Given the description of an element on the screen output the (x, y) to click on. 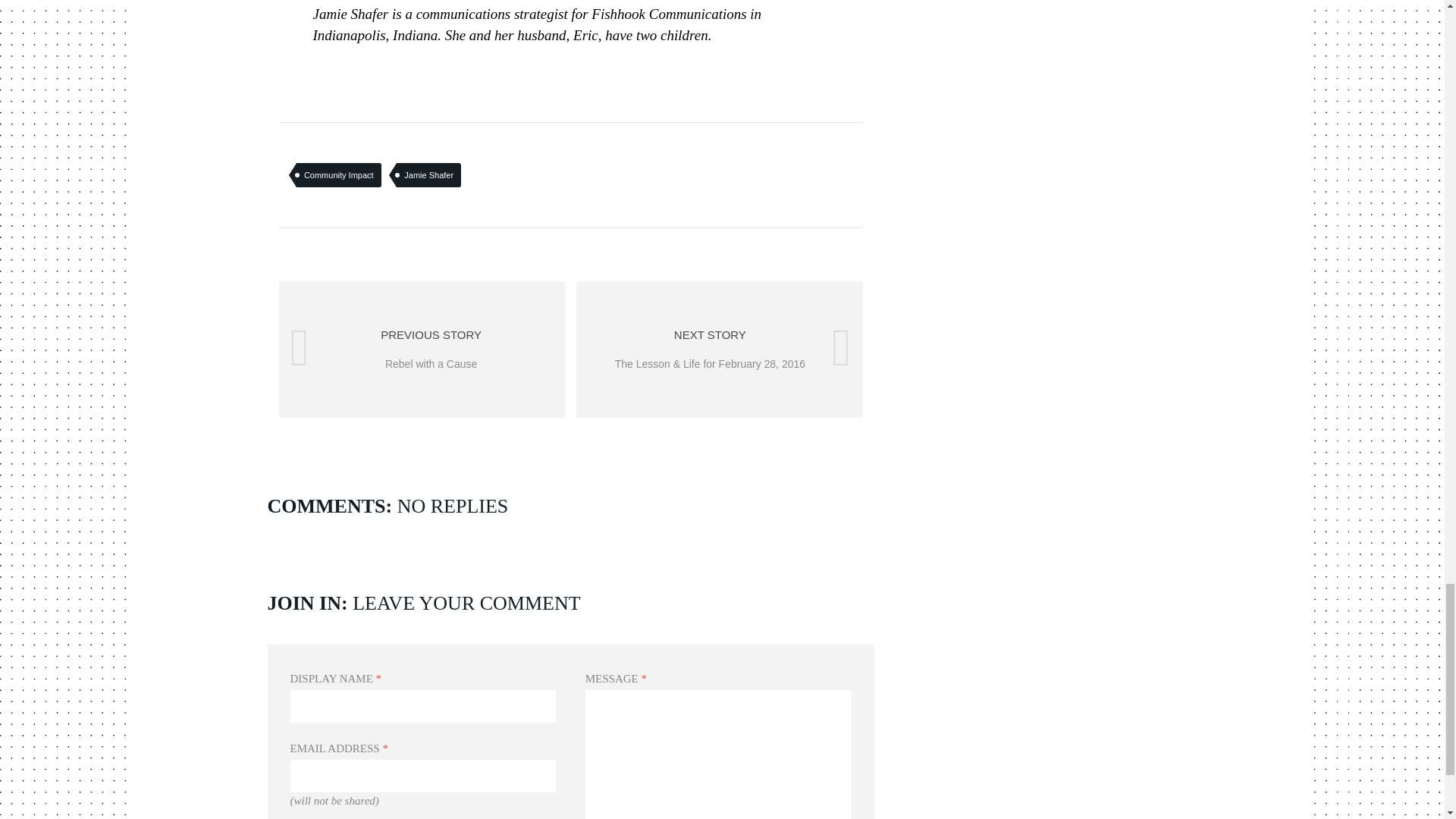
Community Impact (421, 349)
Jamie Shafer (339, 174)
